Given the description of an element on the screen output the (x, y) to click on. 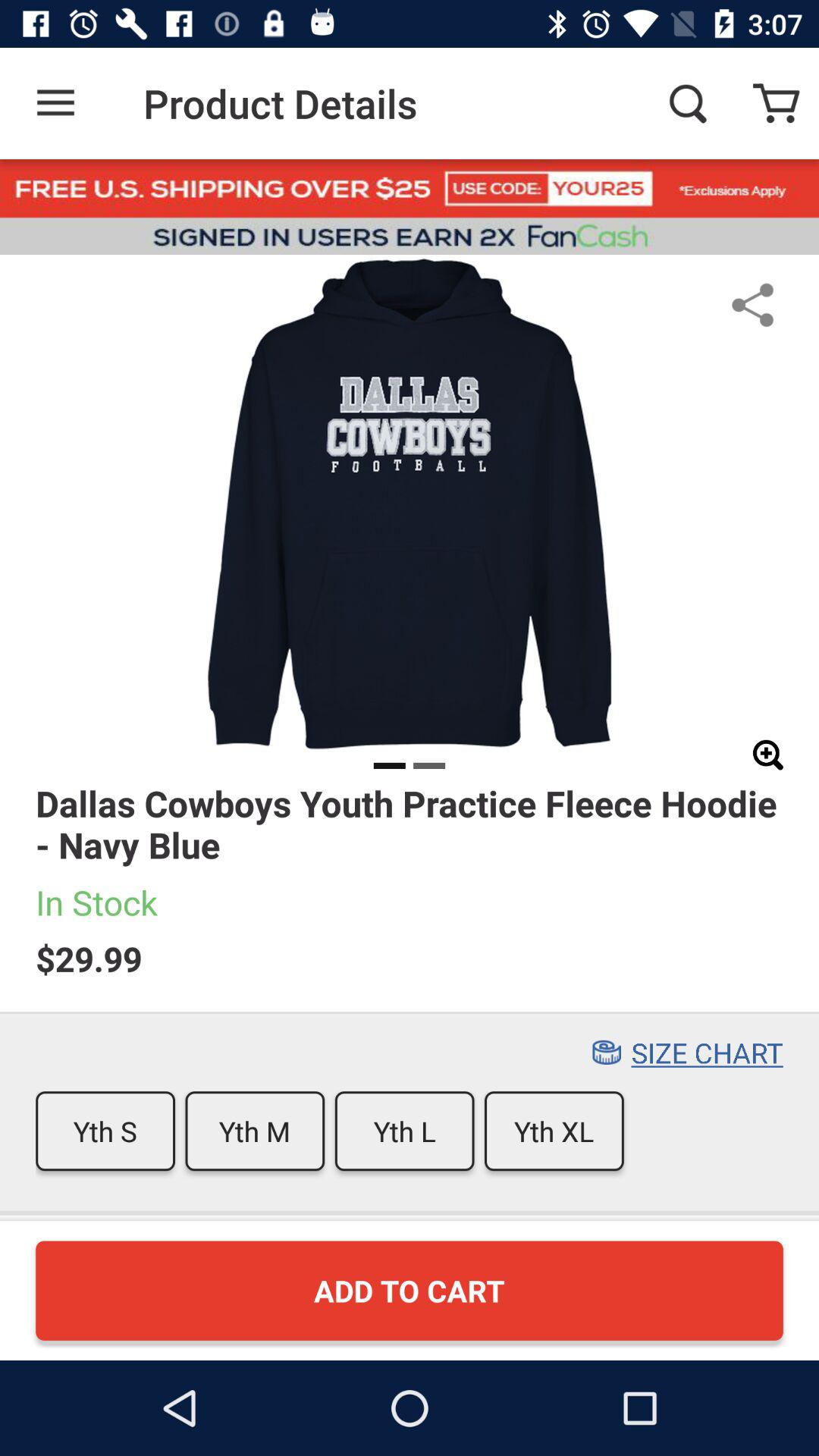
jump to yth xl icon (553, 1131)
